Given the description of an element on the screen output the (x, y) to click on. 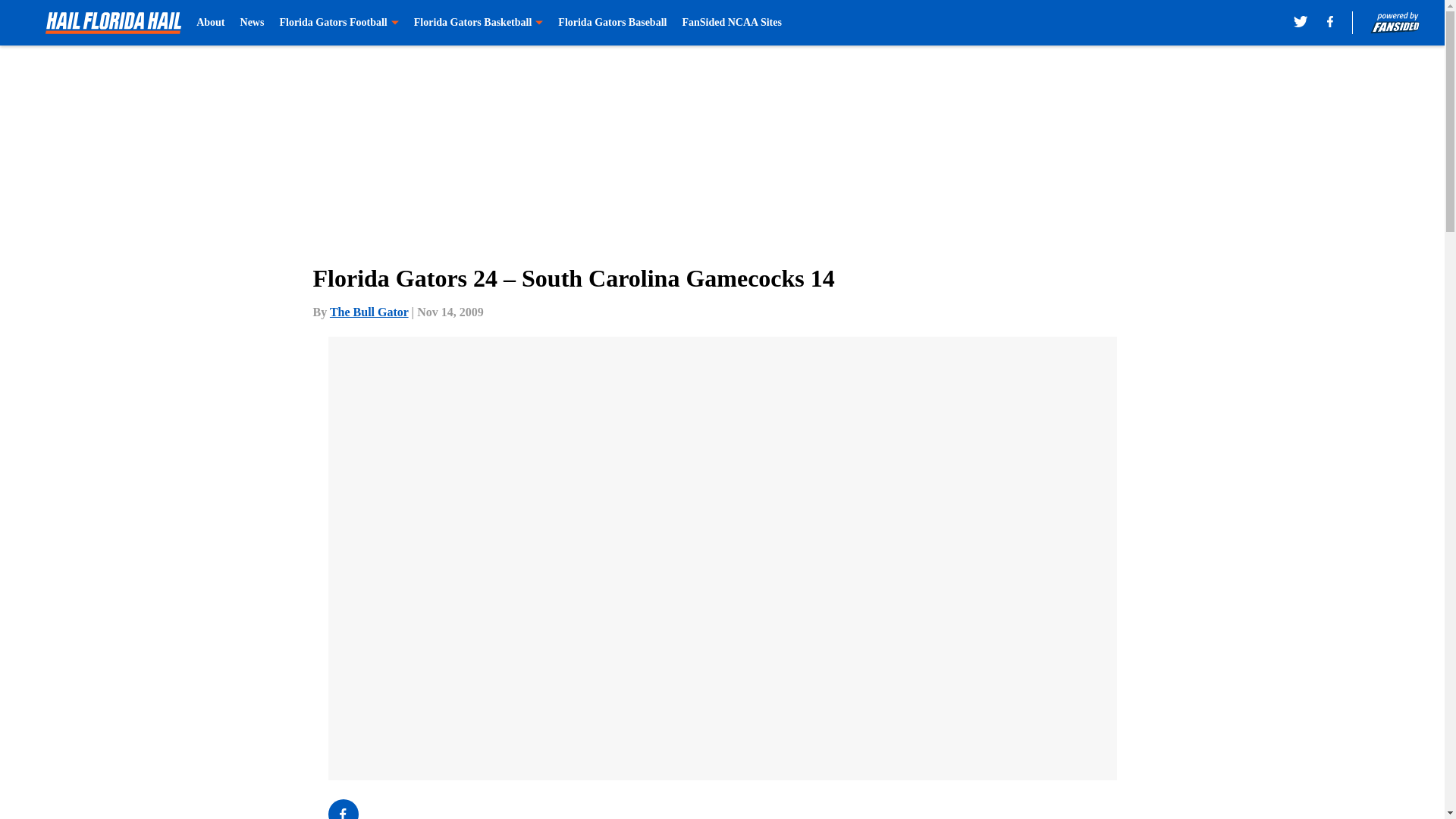
About (210, 22)
News (252, 22)
FanSided NCAA Sites (730, 22)
The Bull Gator (369, 311)
Florida Gators Baseball (611, 22)
